Given the description of an element on the screen output the (x, y) to click on. 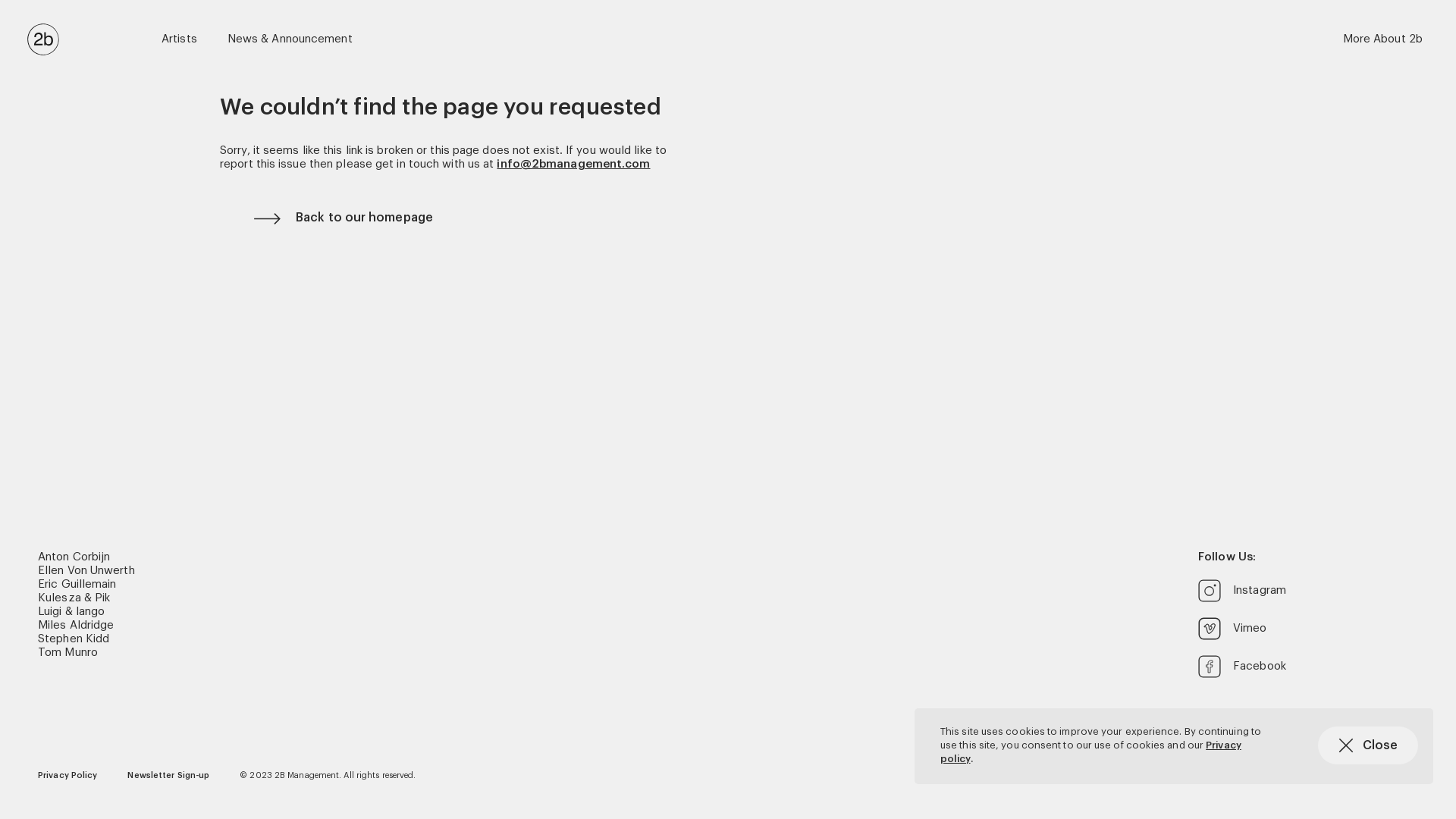
News & Announcement Element type: text (289, 39)
Luigi & Iango Element type: text (70, 611)
info@2bmanagement.com Element type: text (572, 163)
Ellen Von Unwerth Element type: text (85, 570)
Vimeo Element type: text (1308, 628)
Instagram Element type: text (1308, 590)
Facebook Element type: text (1308, 666)
More About 2b Element type: text (1382, 38)
Kulesza & Pik Element type: text (73, 598)
Privacy Policy Element type: text (67, 775)
Eric Guillemain Element type: text (76, 584)
Stephen Kidd Element type: text (73, 639)
Privacy policy Element type: text (1090, 751)
Close Element type: text (1367, 745)
Miles Aldridge Element type: text (75, 625)
Artists Element type: text (179, 39)
Newsletter Sign-up Element type: text (168, 775)
Tom Munro Element type: text (67, 652)
Anton Corbijn Element type: text (73, 557)
Back to our homepage Element type: text (745, 217)
